Given the description of an element on the screen output the (x, y) to click on. 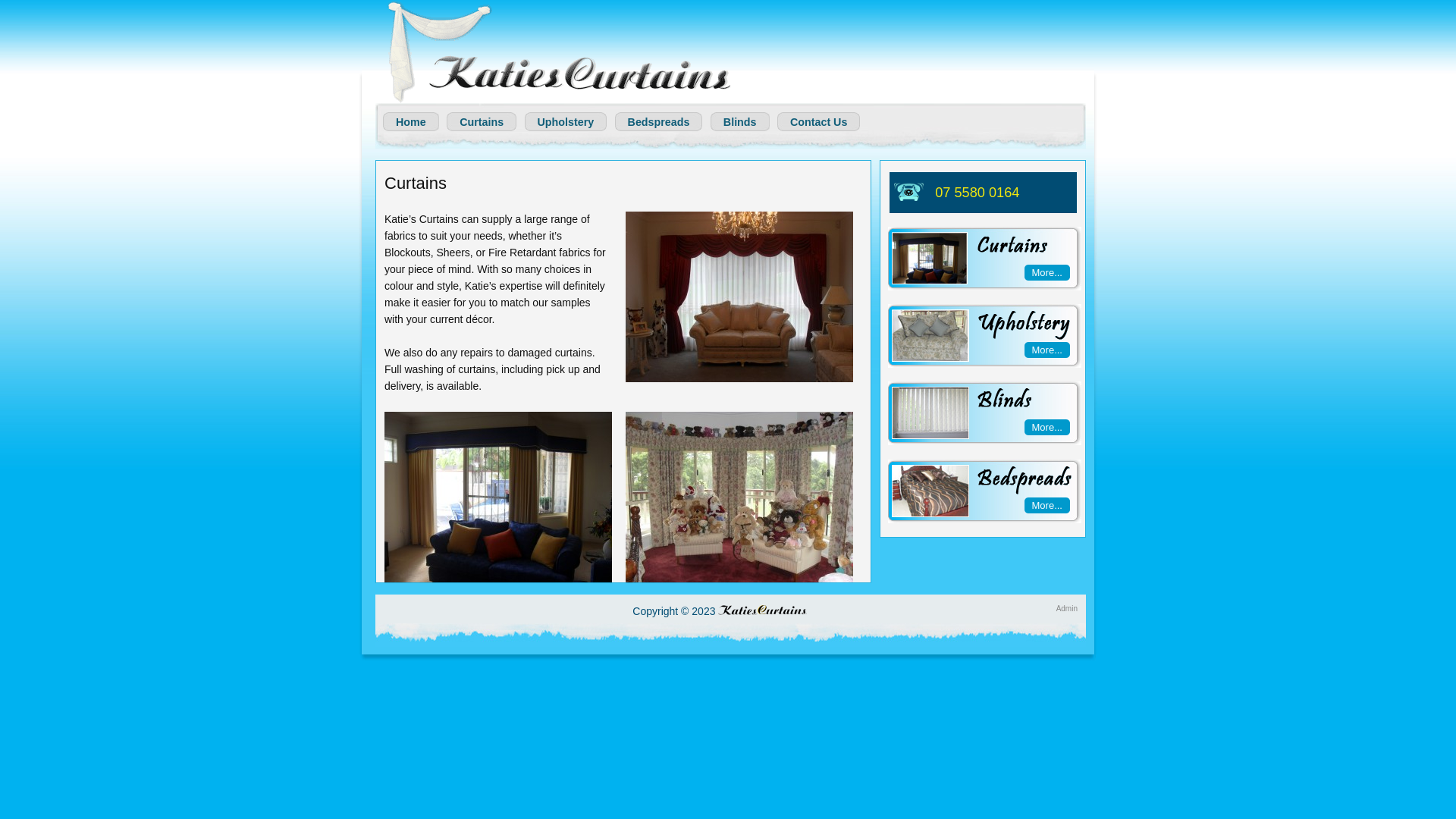
Curtains2 Element type: hover (739, 296)
Curtains3 Element type: hover (739, 496)
Blinds Element type: text (742, 121)
Home Element type: text (413, 121)
More... Element type: text (1047, 505)
Curtains1 Element type: hover (497, 496)
More... Element type: text (1047, 272)
Upholstery Element type: text (568, 121)
Contact Us Element type: text (820, 121)
Katies Curtains Element type: text (556, 51)
Bedspreads Element type: text (661, 121)
More... Element type: text (1047, 349)
Curtains Element type: text (483, 121)
Admin Element type: text (1066, 608)
More... Element type: text (1047, 427)
